Given the description of an element on the screen output the (x, y) to click on. 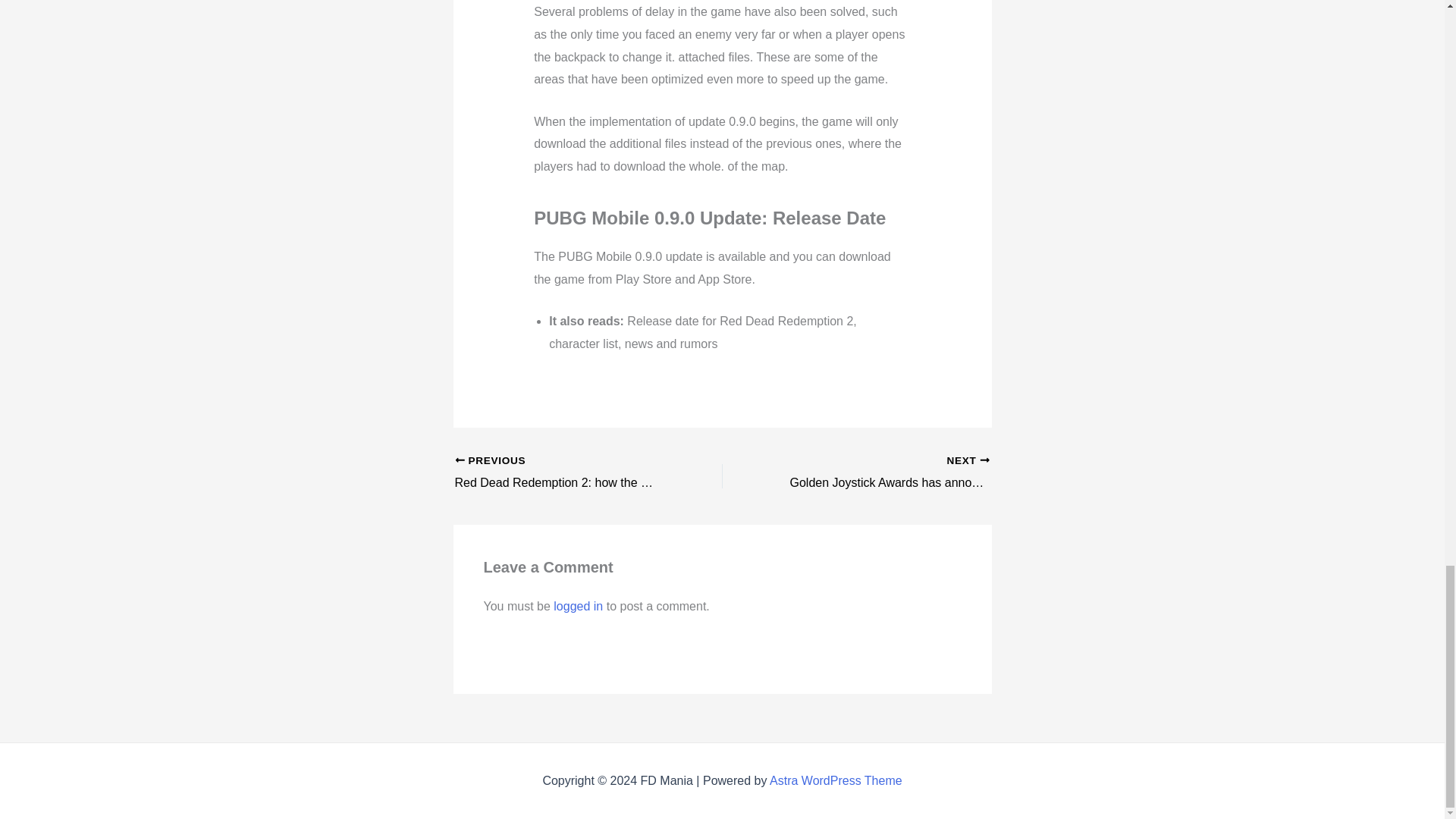
Golden Joystick Awards has announced its (882, 473)
Astra WordPress Theme (836, 780)
logged in (882, 473)
